Given the description of an element on the screen output the (x, y) to click on. 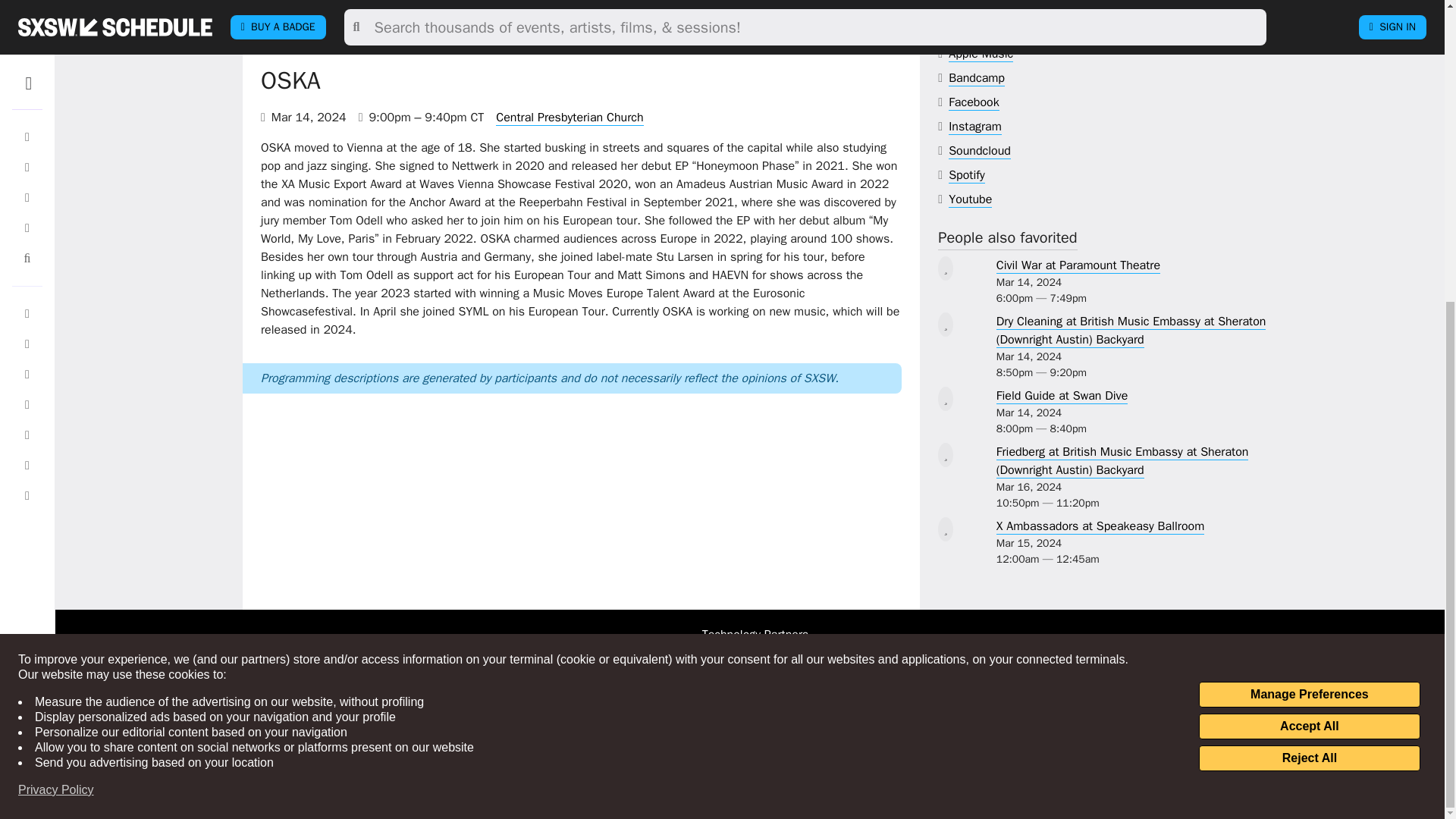
Manage Preferences (1309, 223)
apple (981, 53)
Accept All (1309, 255)
website (989, 29)
Presented by Audiofemme (329, 38)
Reject All (1309, 287)
Privacy Policy (55, 319)
bandcamp (976, 78)
Central Presbyterian Church (569, 117)
